Given the description of an element on the screen output the (x, y) to click on. 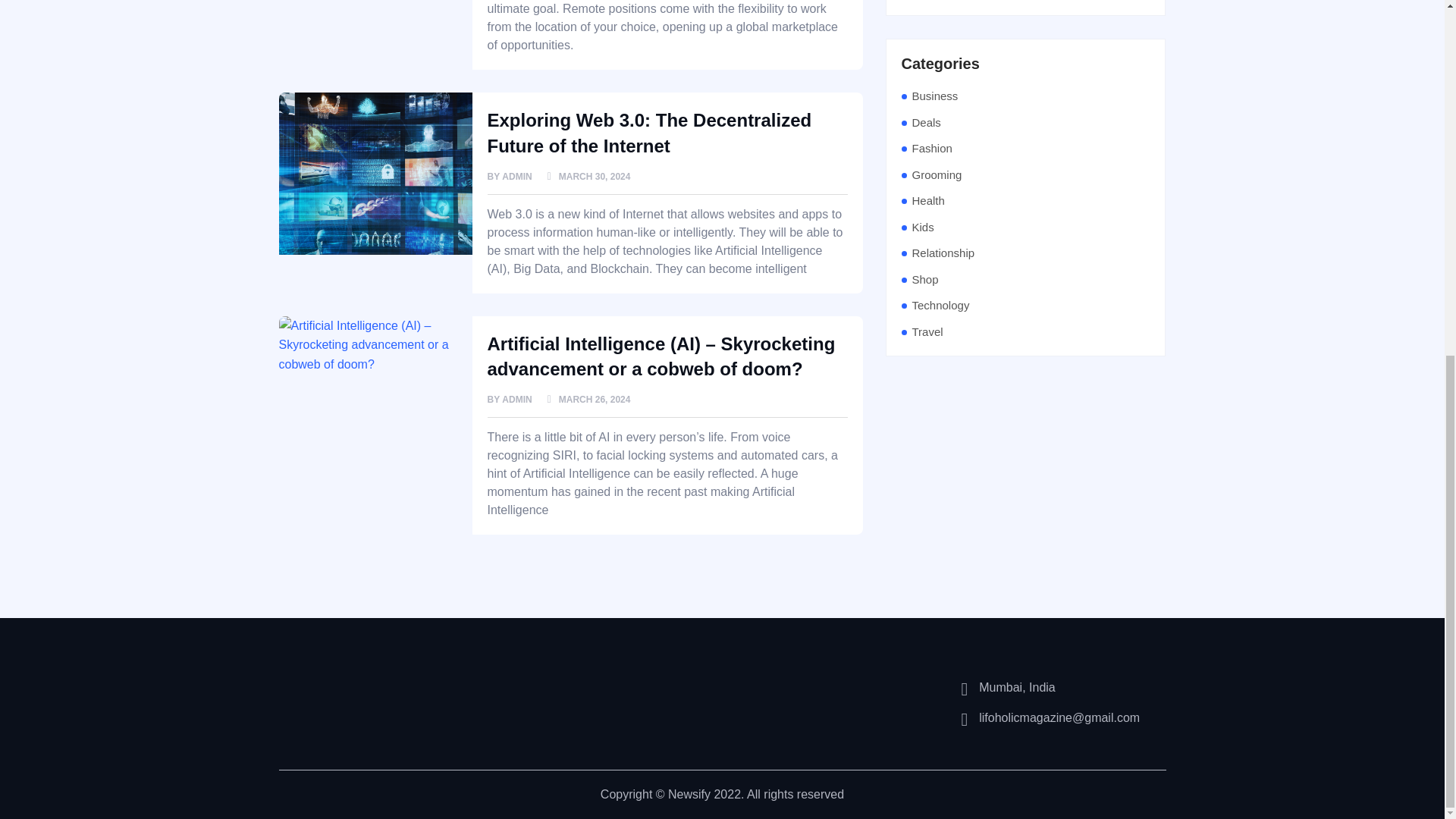
Exploring Web 3.0: The Decentralized Future of the Internet (648, 132)
ADMIN (516, 176)
ADMIN (516, 399)
